Given the description of an element on the screen output the (x, y) to click on. 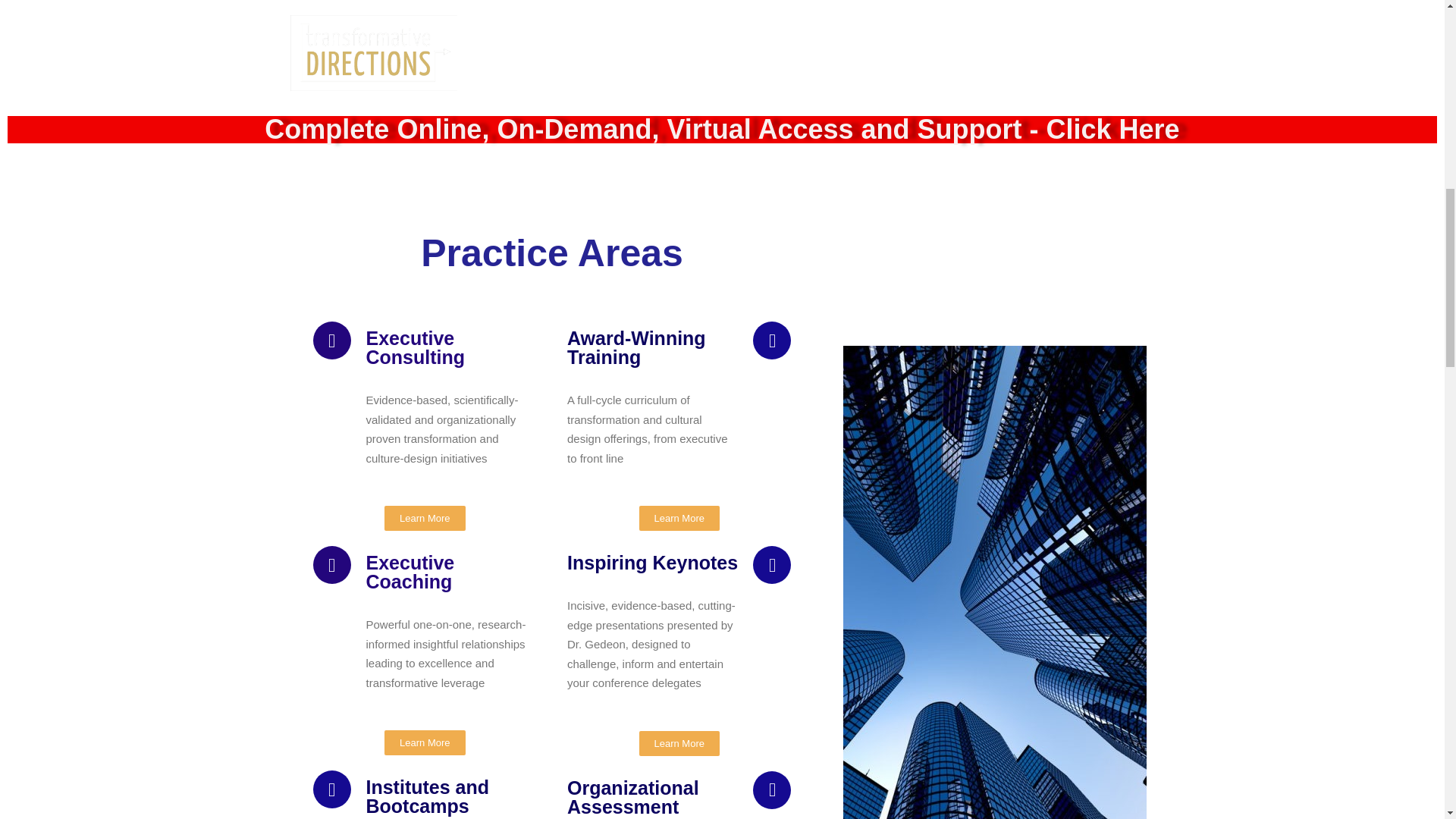
Learn More (424, 742)
Learn More (679, 743)
Learn More (424, 518)
Learn More (679, 518)
